Given the description of an element on the screen output the (x, y) to click on. 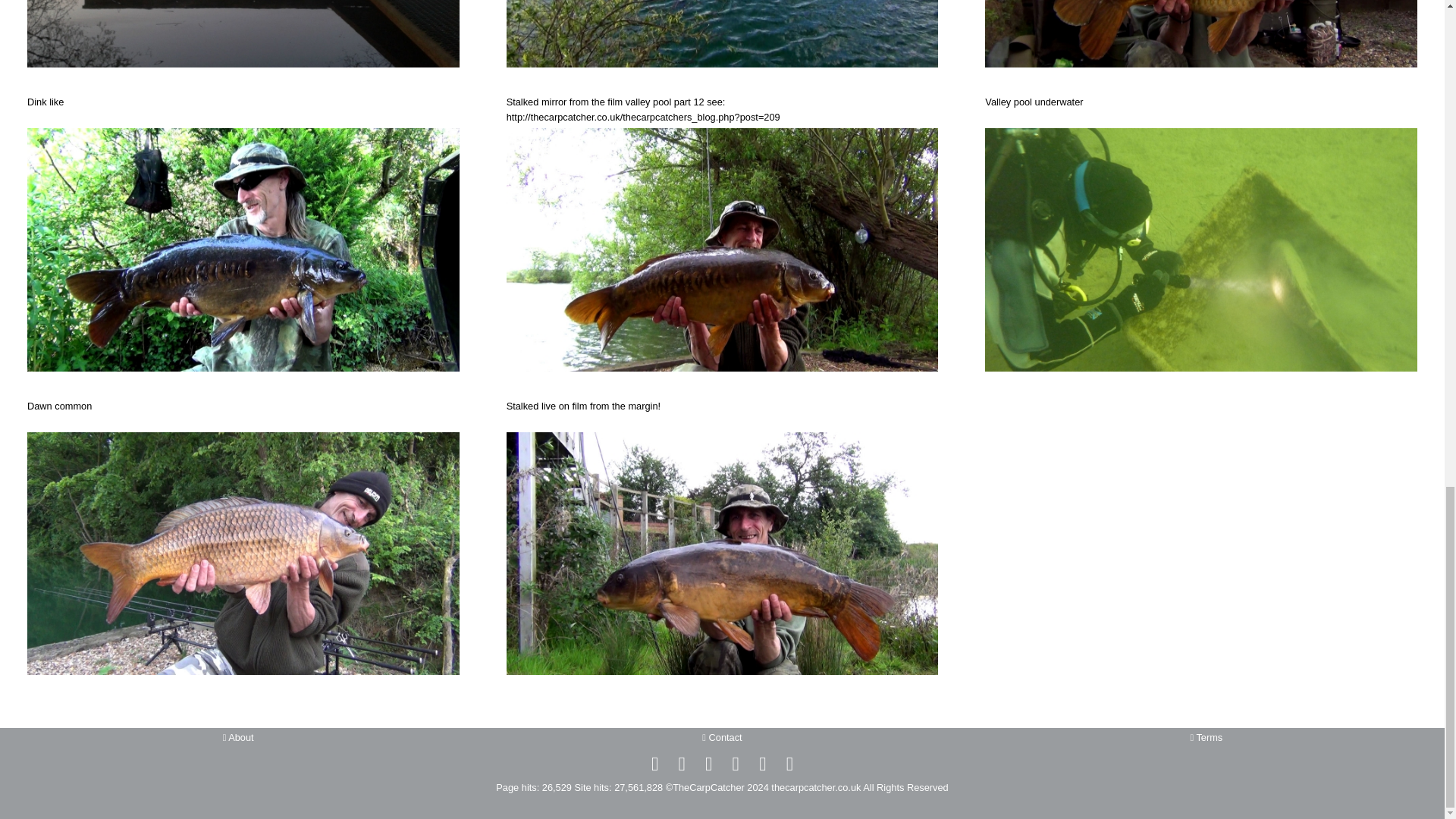
Contact (721, 737)
Terms (1206, 737)
About (237, 737)
